Given the description of an element on the screen output the (x, y) to click on. 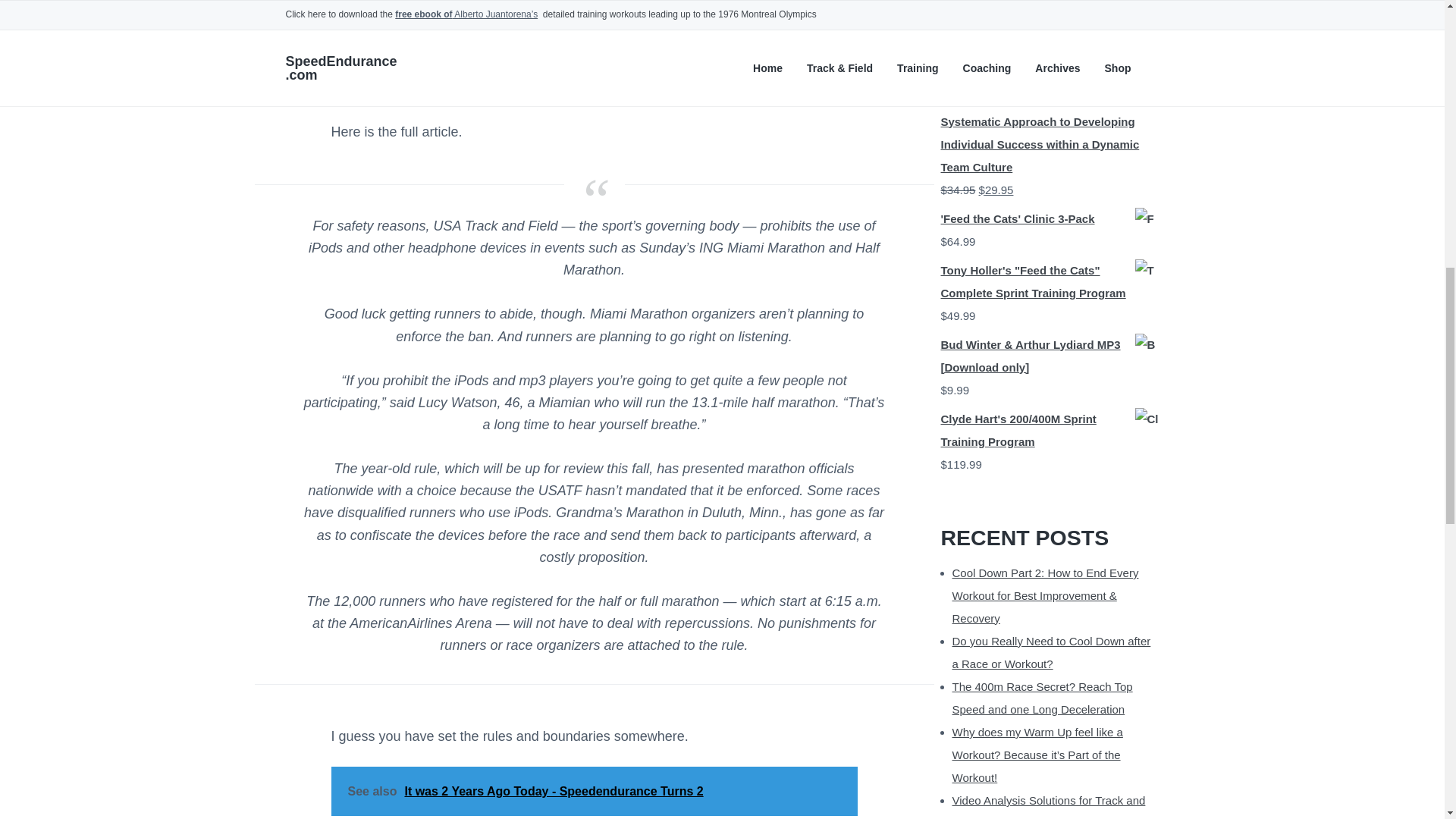
iPod for motivation (515, 68)
